Given the description of an element on the screen output the (x, y) to click on. 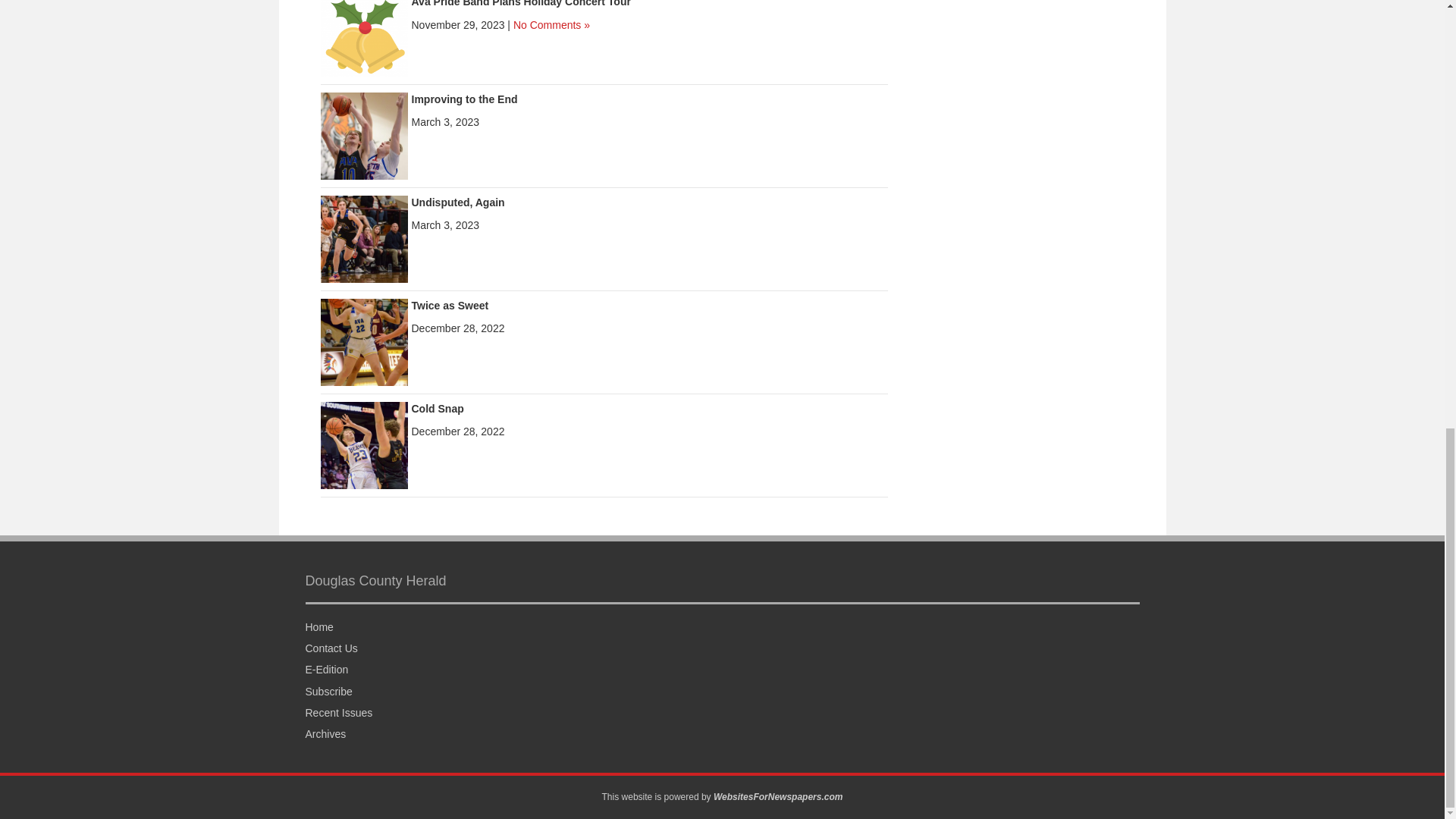
Ava Pride Band Plans Holiday Concert Tour (520, 3)
Improving to the End (463, 99)
Cold Snap (436, 408)
Ava Pride Band Plans Holiday Concert Tour (520, 3)
Undisputed, Again (456, 202)
Improving to the End (463, 99)
Undisputed, Again (456, 202)
Ava Pride Band Plans Holiday Concert Tour (363, 34)
Improving to the End (363, 134)
Twice as Sweet (363, 340)
